Given the description of an element on the screen output the (x, y) to click on. 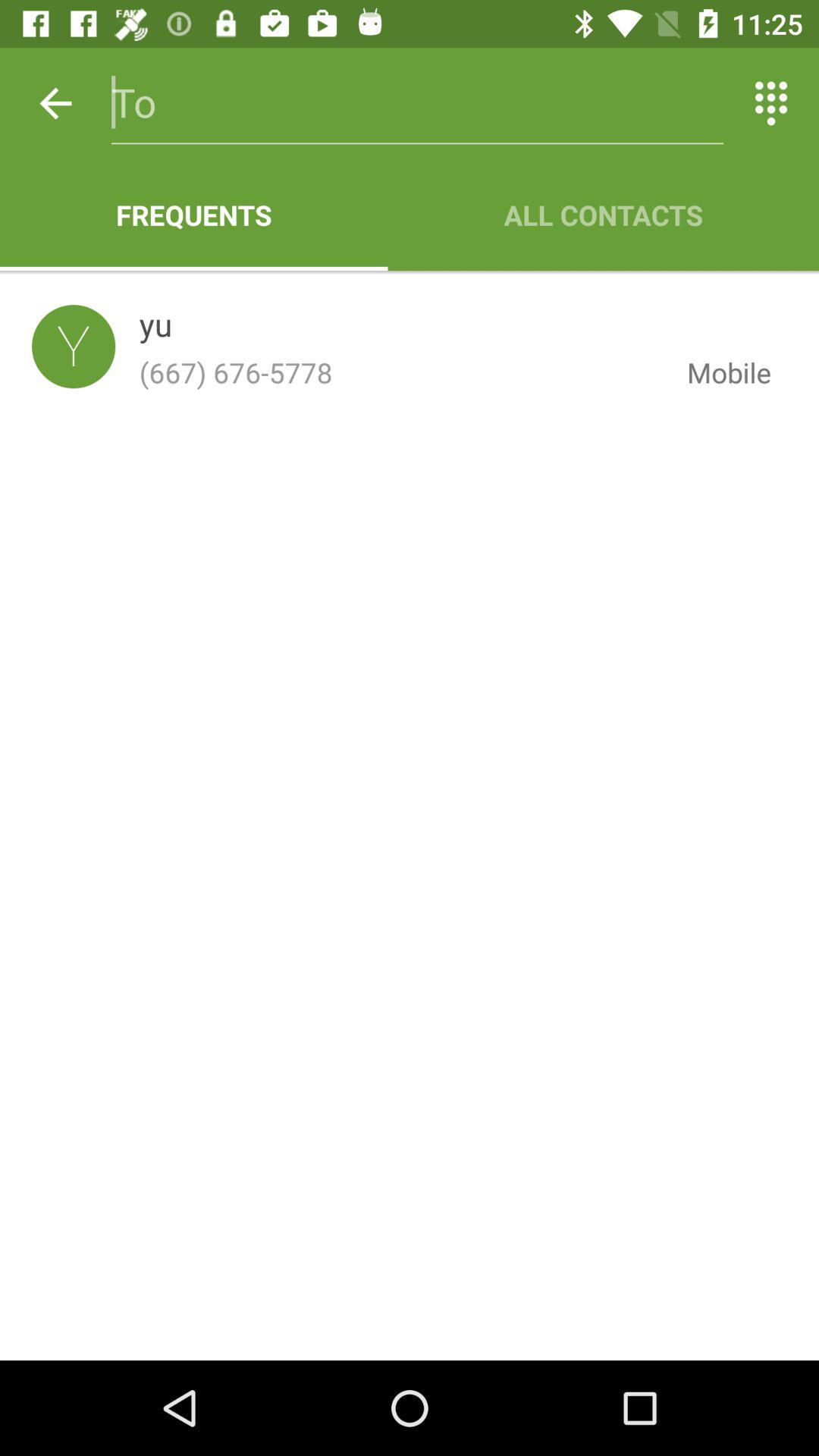
open item to the left of the mobile (155, 327)
